Given the description of an element on the screen output the (x, y) to click on. 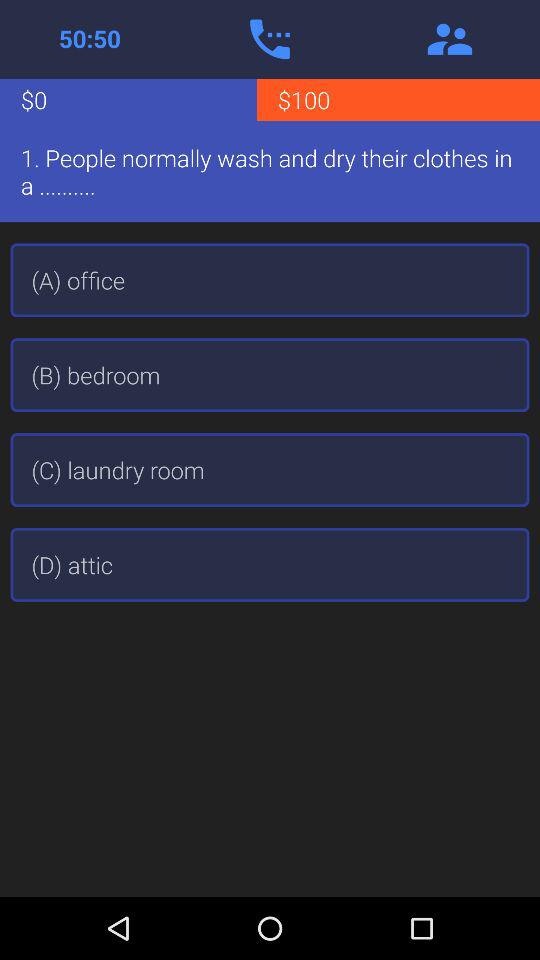
select the item above $0 item (90, 39)
